Given the description of an element on the screen output the (x, y) to click on. 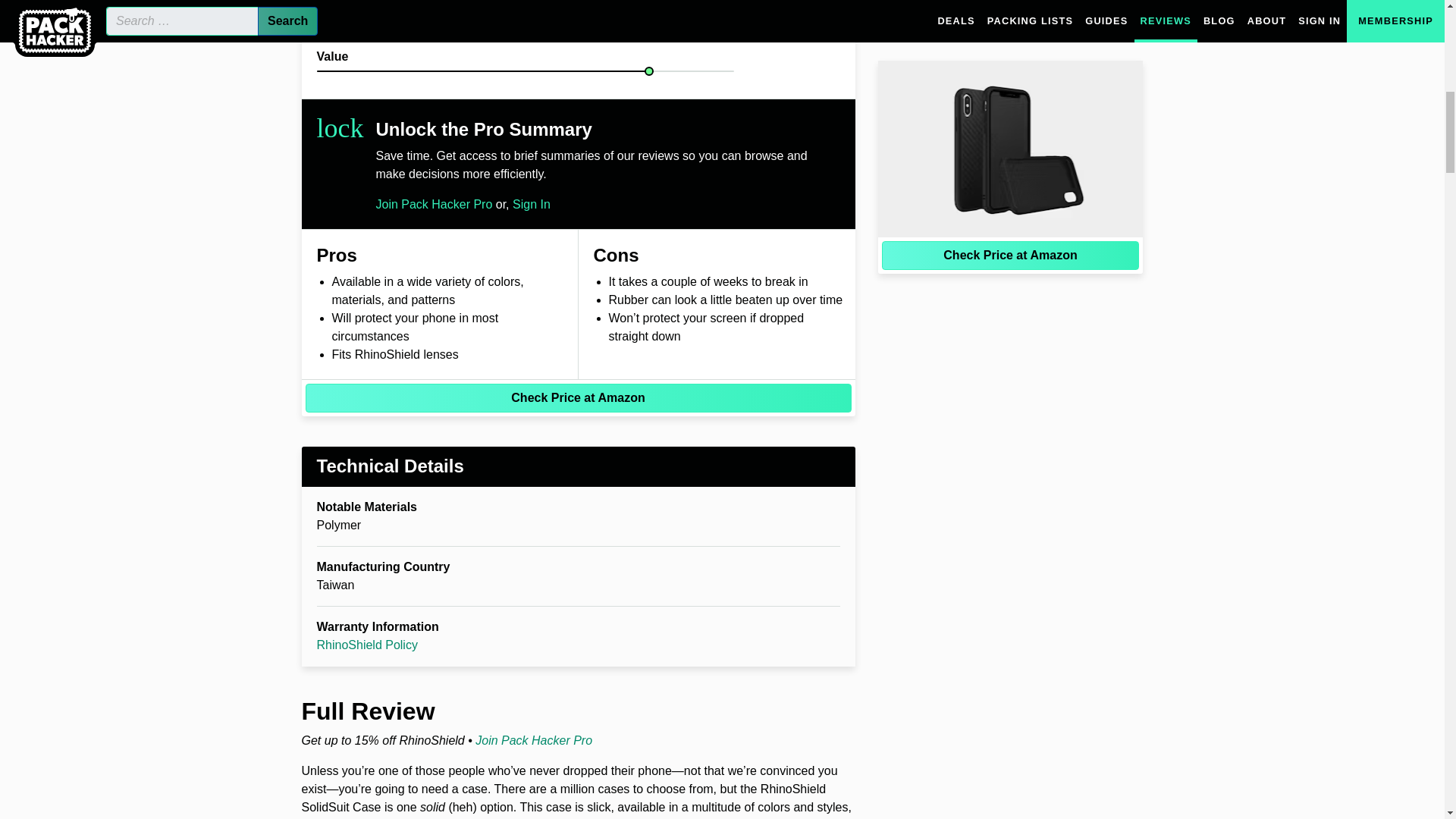
info (809, 6)
Check Price at Amazon (577, 398)
lock (340, 127)
Join Pack Hacker Pro (534, 739)
Join Pack Hacker Pro (433, 204)
RhinoShield Policy (367, 644)
Sign In (531, 204)
